Given the description of an element on the screen output the (x, y) to click on. 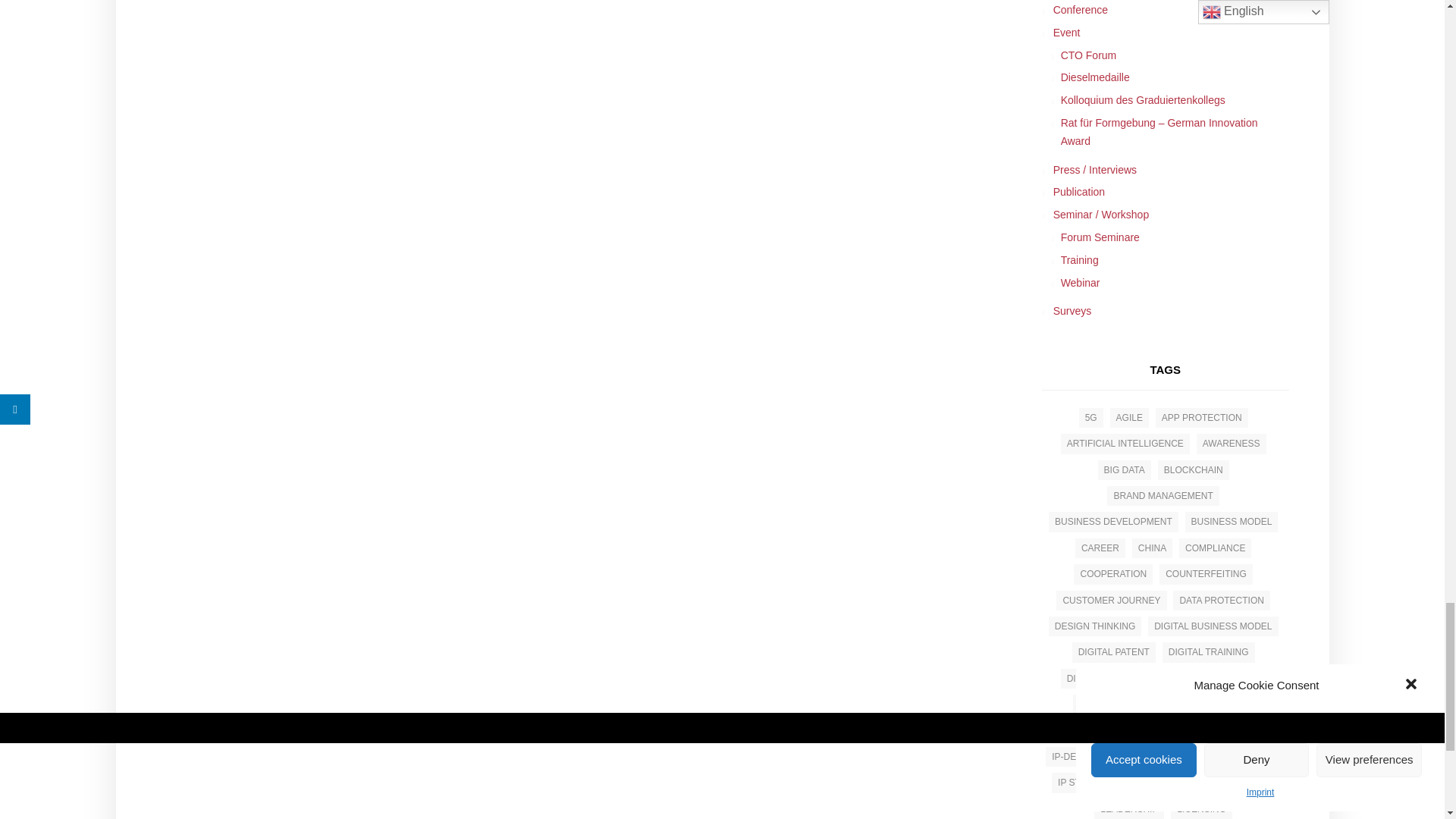
Meetings, Symposien, Industrie-Veranstaltungen, (1165, 33)
